Given the description of an element on the screen output the (x, y) to click on. 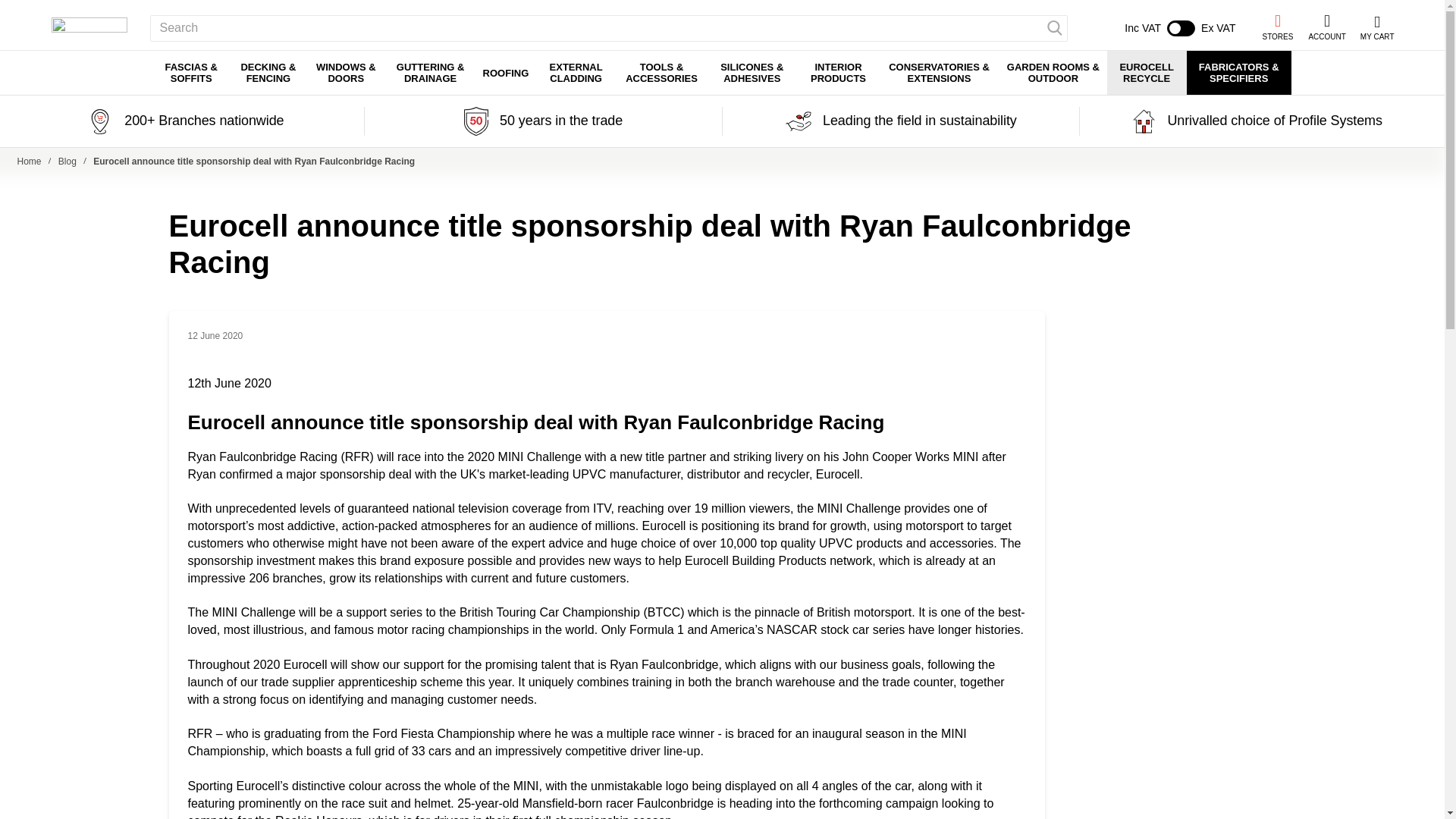
Home (1179, 28)
ACCOUNT (29, 161)
Blog (1326, 27)
STORES (68, 161)
MY CART (1277, 27)
